Given the description of an element on the screen output the (x, y) to click on. 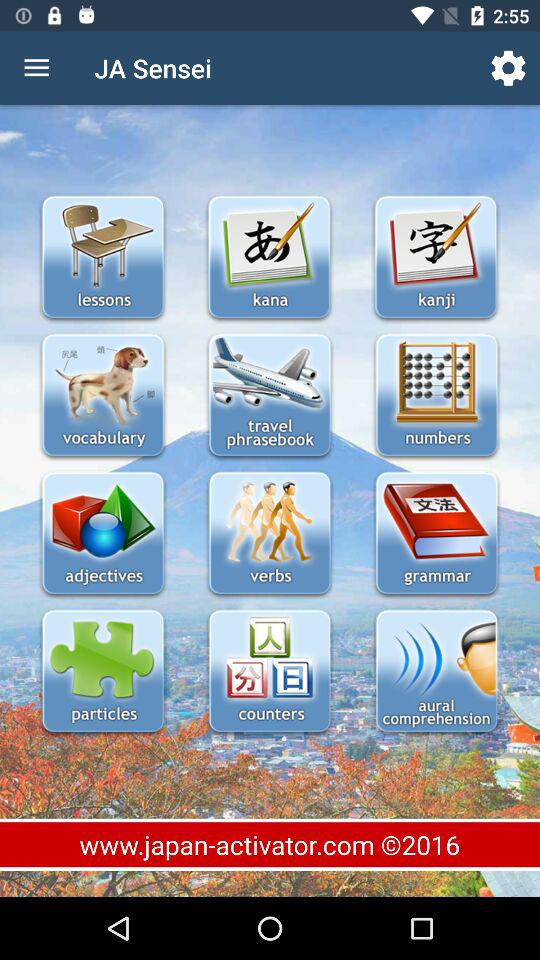
aural comprehension (436, 672)
